Given the description of an element on the screen output the (x, y) to click on. 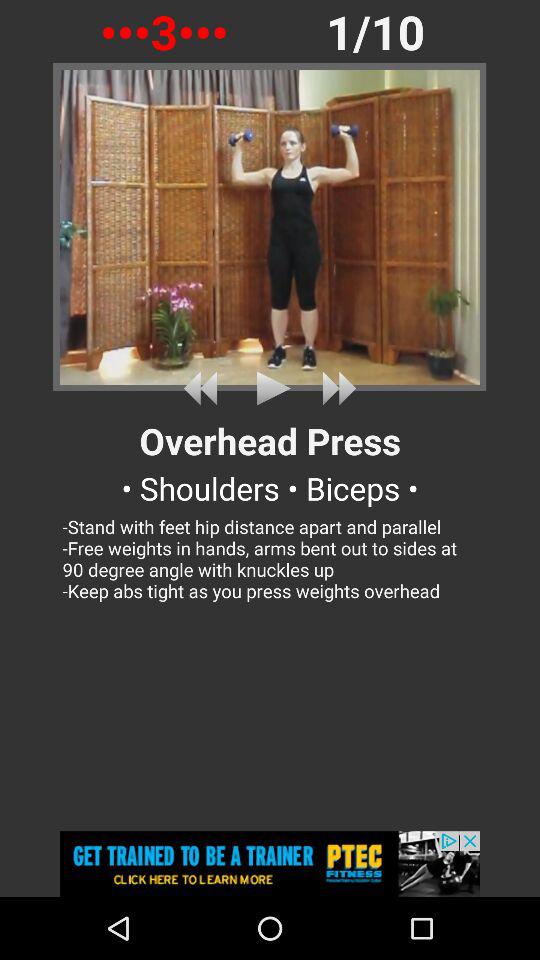
go to the next page (335, 388)
